Given the description of an element on the screen output the (x, y) to click on. 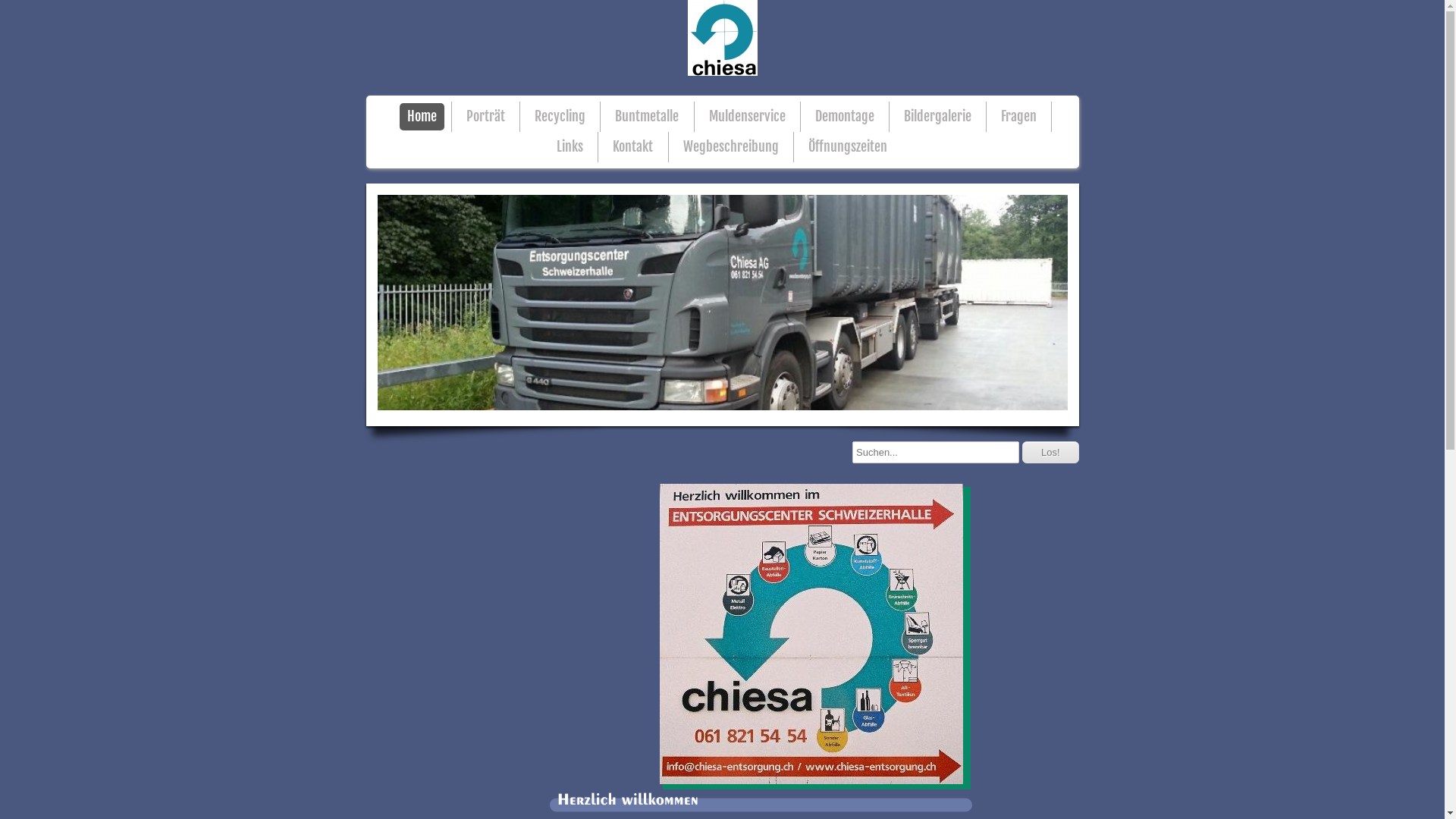
Muldenservice Element type: text (747, 116)
Demontage Element type: text (844, 116)
Wegbeschreibung Element type: text (730, 146)
Links Element type: text (569, 146)
Recycling Element type: text (560, 116)
Kontakt Element type: text (632, 146)
Los! Element type: text (1050, 452)
Buntmetalle Element type: text (646, 116)
Bildergalerie Element type: text (937, 116)
Home Element type: text (421, 116)
Fragen Element type: text (1018, 116)
